Given the description of an element on the screen output the (x, y) to click on. 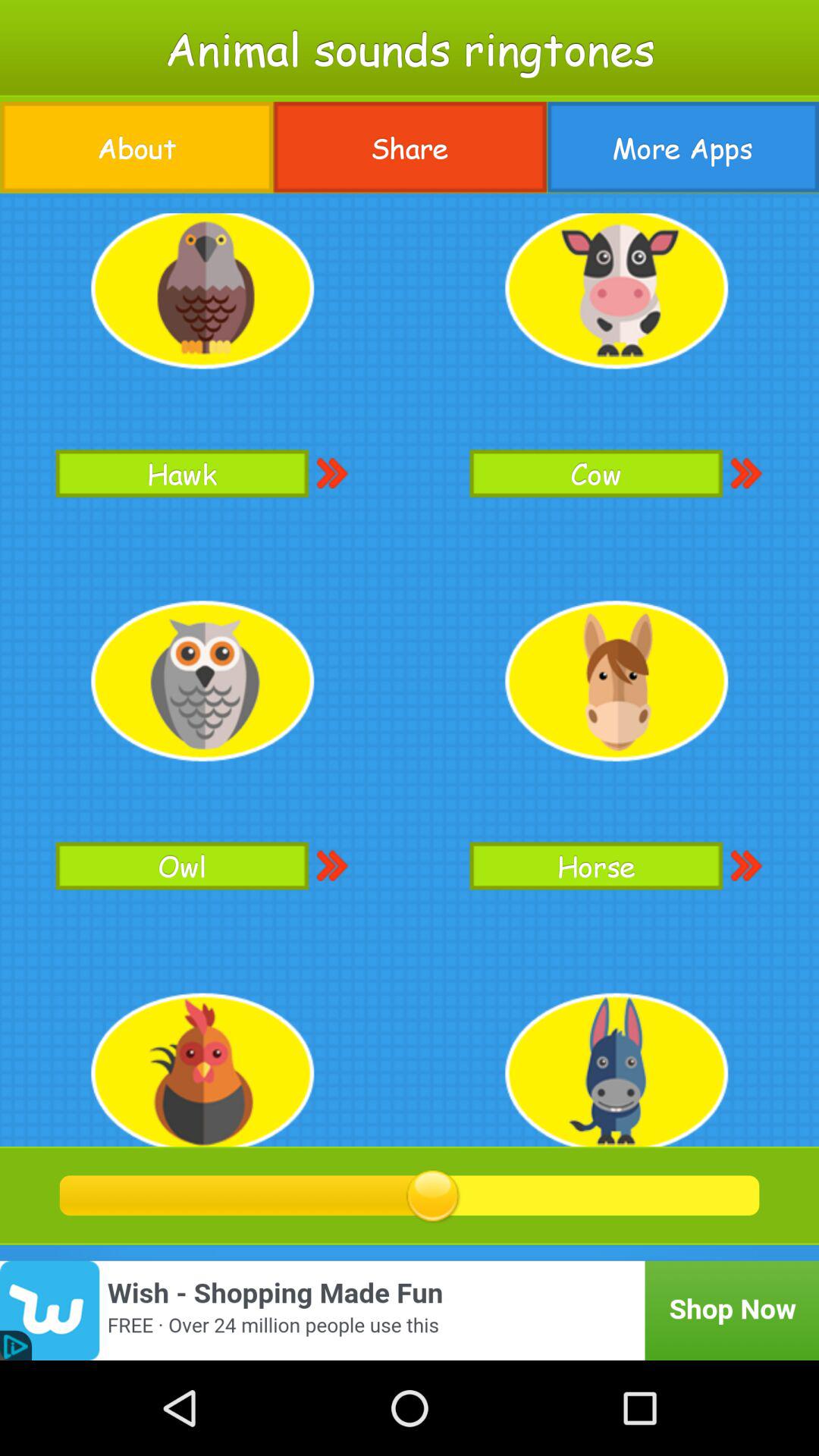
select the item next to about icon (409, 147)
